Given the description of an element on the screen output the (x, y) to click on. 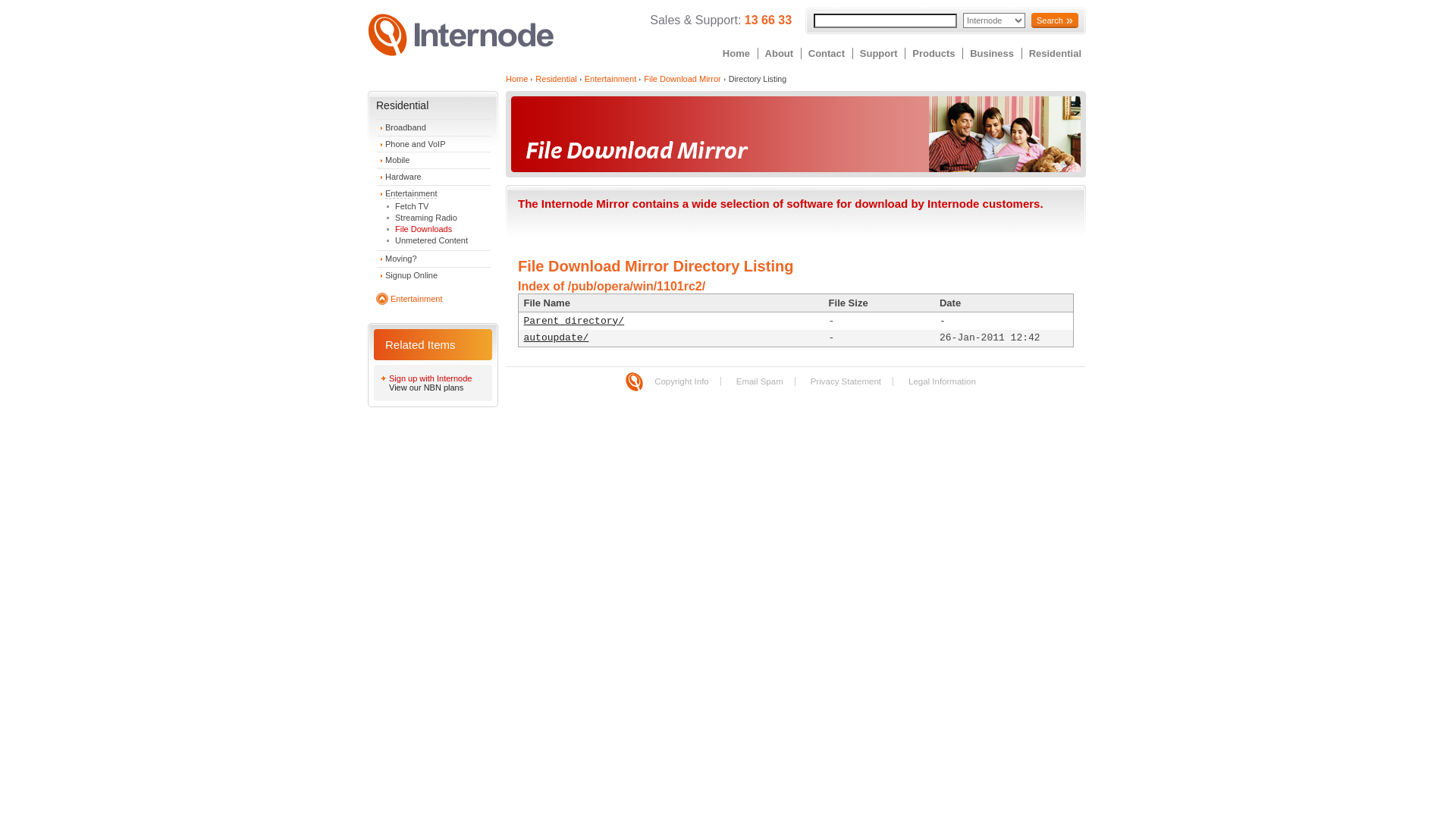
Residential Element type: text (555, 78)
Entertainment Element type: text (416, 298)
Contact Element type: text (826, 53)
Signup Online Element type: text (411, 274)
Copyright Info Element type: text (681, 380)
autoupdate/ Element type: text (555, 337)
Moving? Element type: text (401, 258)
Phone and VoIP Element type: text (415, 143)
Email Spam Element type: text (759, 380)
Streaming Radio Element type: text (426, 217)
Search Element type: text (1054, 20)
File Downloads Element type: text (423, 228)
Residential Element type: text (1055, 53)
Entertainment Element type: text (610, 78)
File Download Mirror Element type: text (681, 78)
Home Element type: text (735, 53)
Support Element type: text (878, 53)
Internode Element type: hover (633, 381)
Broadband Element type: text (405, 126)
Residential Element type: text (402, 105)
Fetch TV Element type: text (411, 205)
Mobile Element type: text (397, 159)
Home Element type: text (516, 78)
Business Element type: text (991, 53)
Unmetered Content Element type: text (431, 239)
Legal Information Element type: text (941, 380)
View our NBN plans Element type: text (436, 387)
File Download Mirror Element type: hover (795, 134)
About Element type: text (779, 53)
Products Element type: text (933, 53)
Hardware Element type: text (403, 176)
Privacy Statement Element type: text (845, 380)
Parent directory/ Element type: text (573, 320)
Entertainment Element type: text (410, 193)
